Given the description of an element on the screen output the (x, y) to click on. 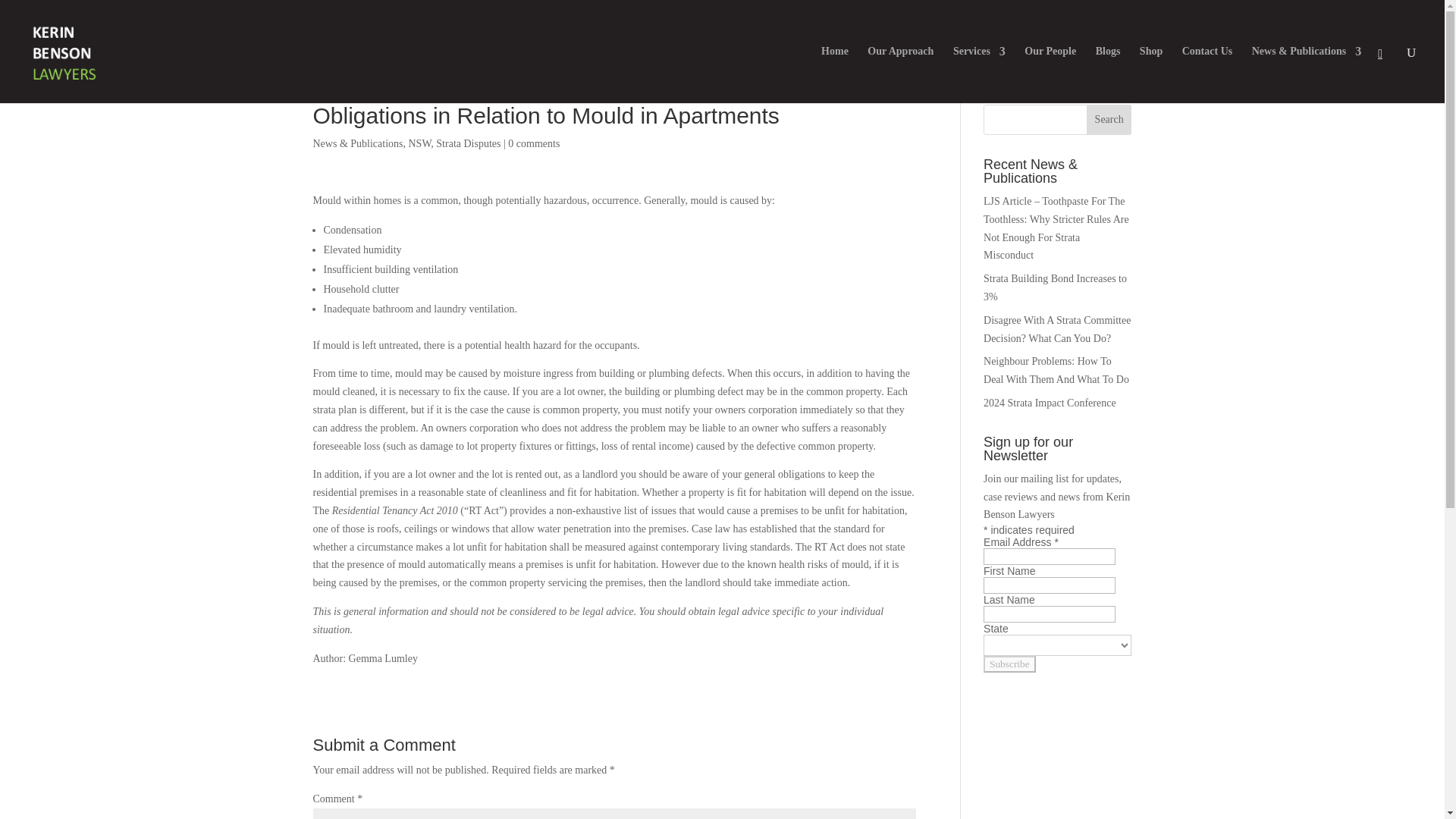
Subscribe (1009, 664)
NSW (418, 143)
0 comments (533, 143)
Strata Disputes (467, 143)
Our People (1050, 74)
Services (979, 74)
Search (1109, 119)
Our Approach (900, 74)
Contact Us (1207, 74)
